Given the description of an element on the screen output the (x, y) to click on. 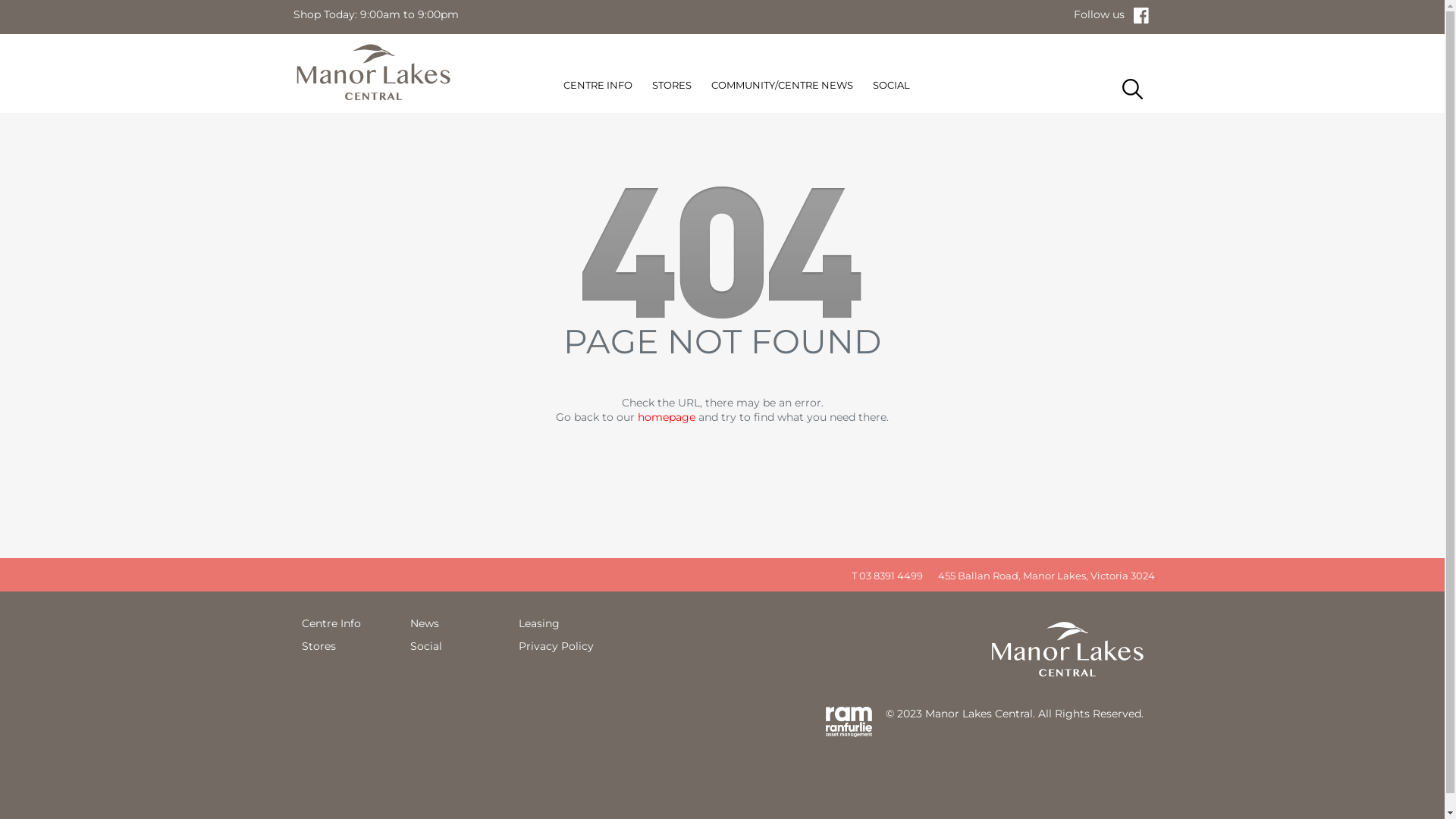
News Element type: text (423, 623)
SOCIAL Element type: text (890, 87)
STORES Element type: text (671, 87)
homepage Element type: text (666, 416)
Social Element type: text (425, 645)
COMMUNITY/CENTRE NEWS Element type: text (781, 87)
Leasing Element type: text (538, 623)
Facebook Element type: hover (1143, 14)
Centre Info Element type: text (330, 623)
Privacy Policy Element type: text (555, 645)
T 03 8391 4499 Element type: text (882, 575)
455 Ballan Road, Manor Lakes, Victoria 3024 Element type: text (1041, 575)
CENTRE INFO Element type: text (597, 87)
Stores Element type: text (318, 645)
